Given the description of an element on the screen output the (x, y) to click on. 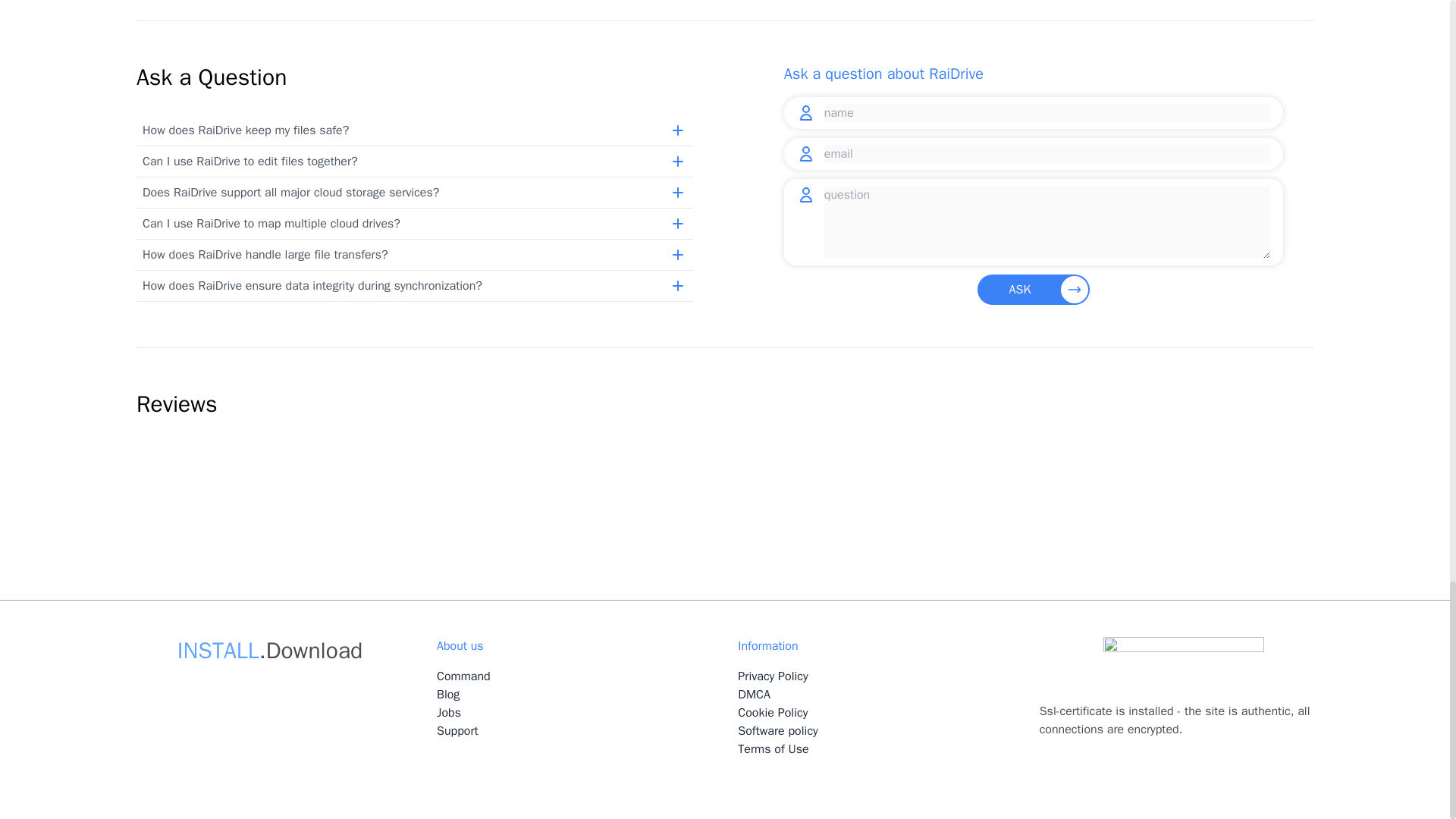
Cookie Policy (882, 712)
Blog (448, 694)
DMCA (882, 694)
Software policy (882, 730)
Privacy Policy (882, 676)
Support (457, 730)
Terms of Use (882, 749)
